Given the description of an element on the screen output the (x, y) to click on. 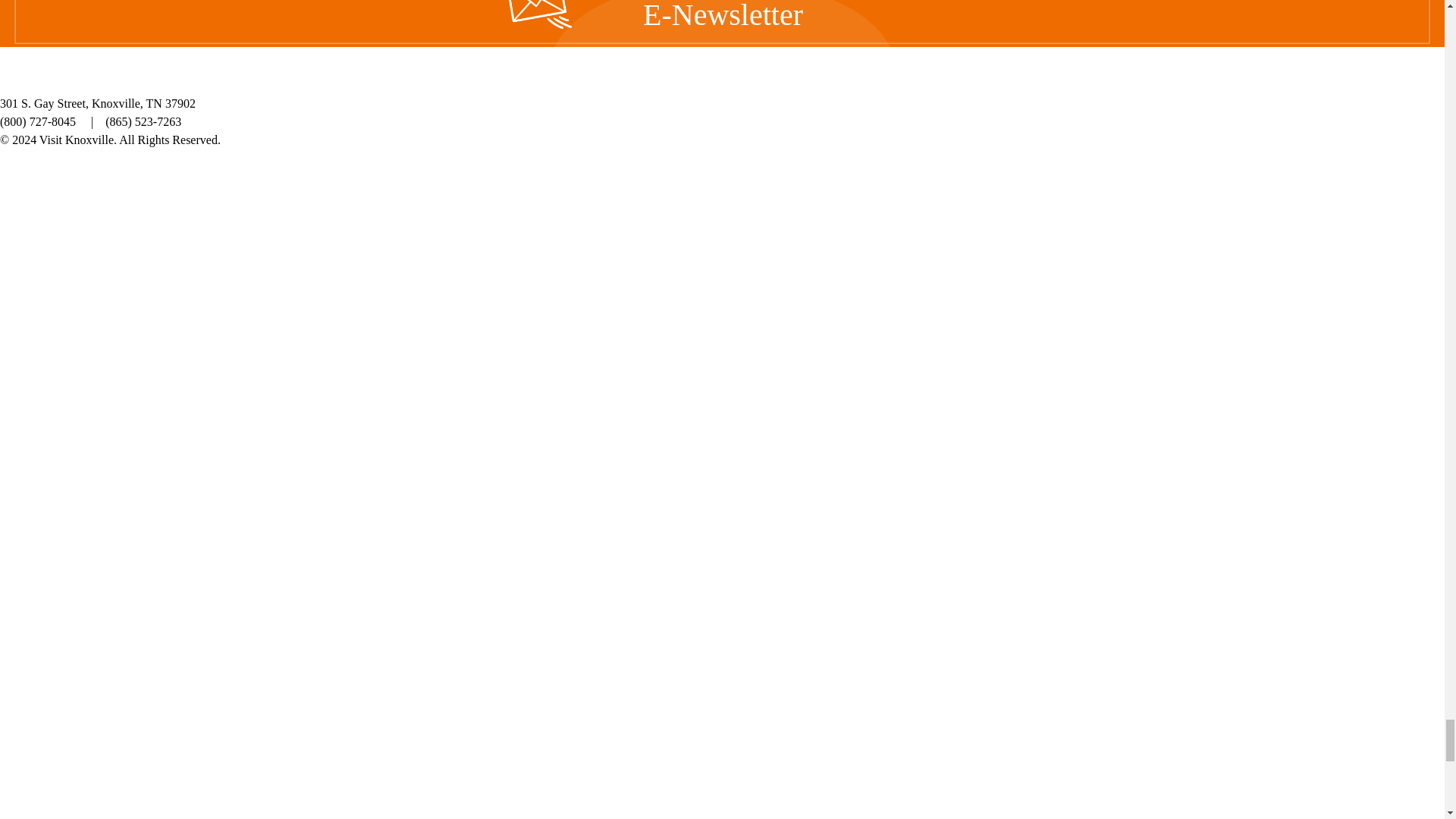
Visit our facebook page (616, 202)
Visit our instagram page (669, 202)
Visit our tiktok page (774, 202)
Visit our pinterest page (721, 202)
Visit our youtube page (826, 202)
